Given the description of an element on the screen output the (x, y) to click on. 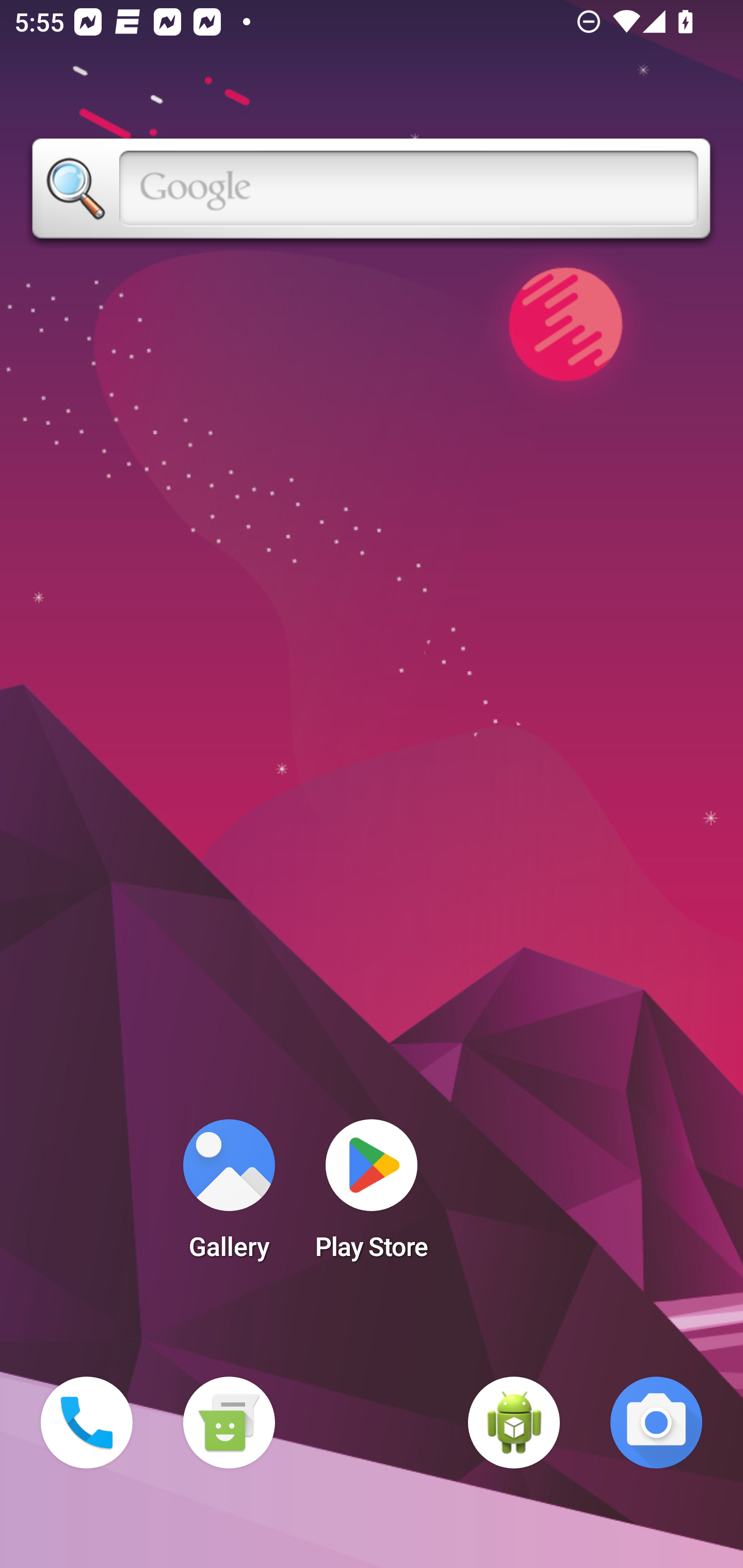
Gallery (228, 1195)
Play Store (371, 1195)
Phone (86, 1422)
Messaging (228, 1422)
WebView Browser Tester (513, 1422)
Camera (656, 1422)
